Given the description of an element on the screen output the (x, y) to click on. 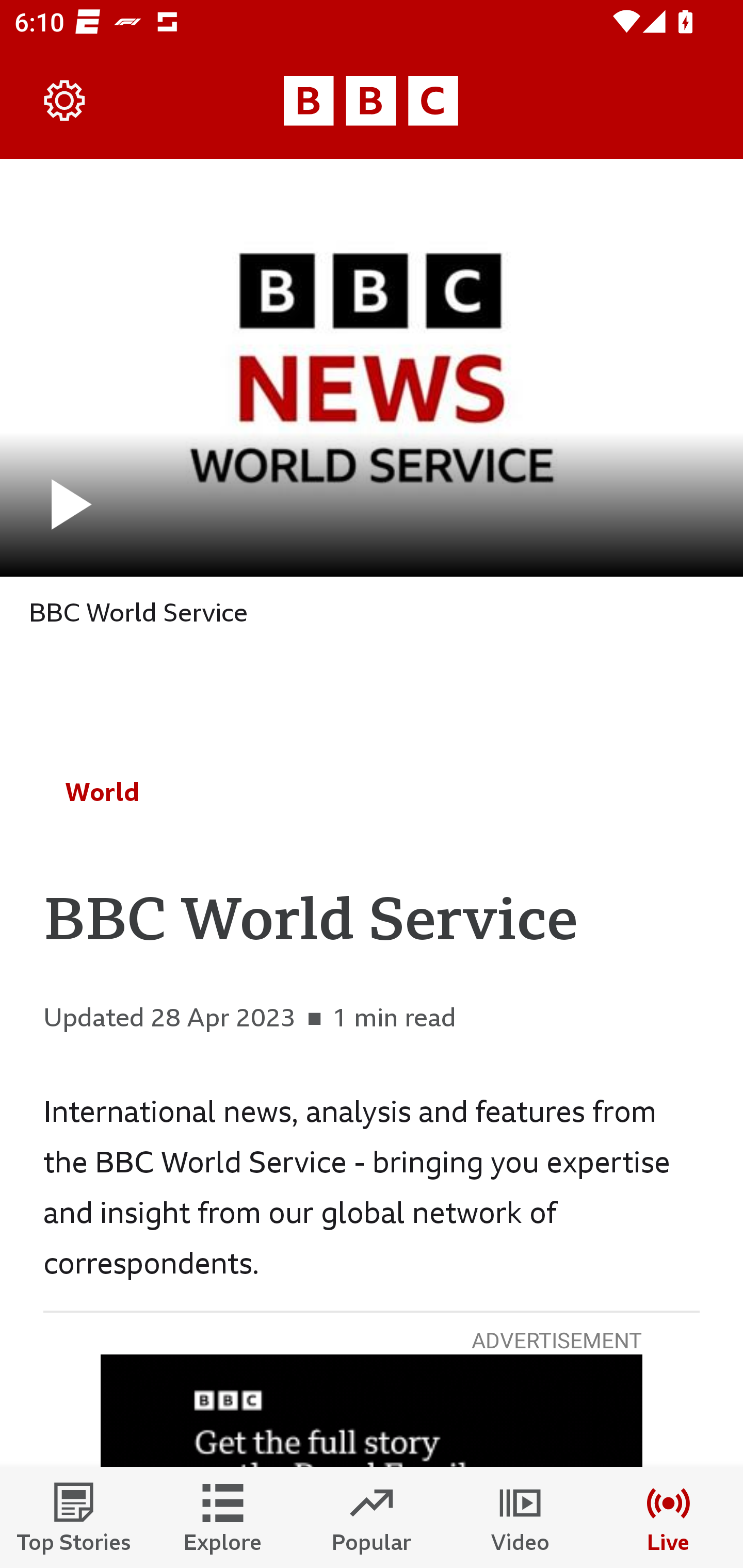
Settings (64, 100)
play fullscreen (371, 367)
World (102, 791)
Top Stories (74, 1517)
Explore (222, 1517)
Popular (371, 1517)
Video (519, 1517)
